Given the description of an element on the screen output the (x, y) to click on. 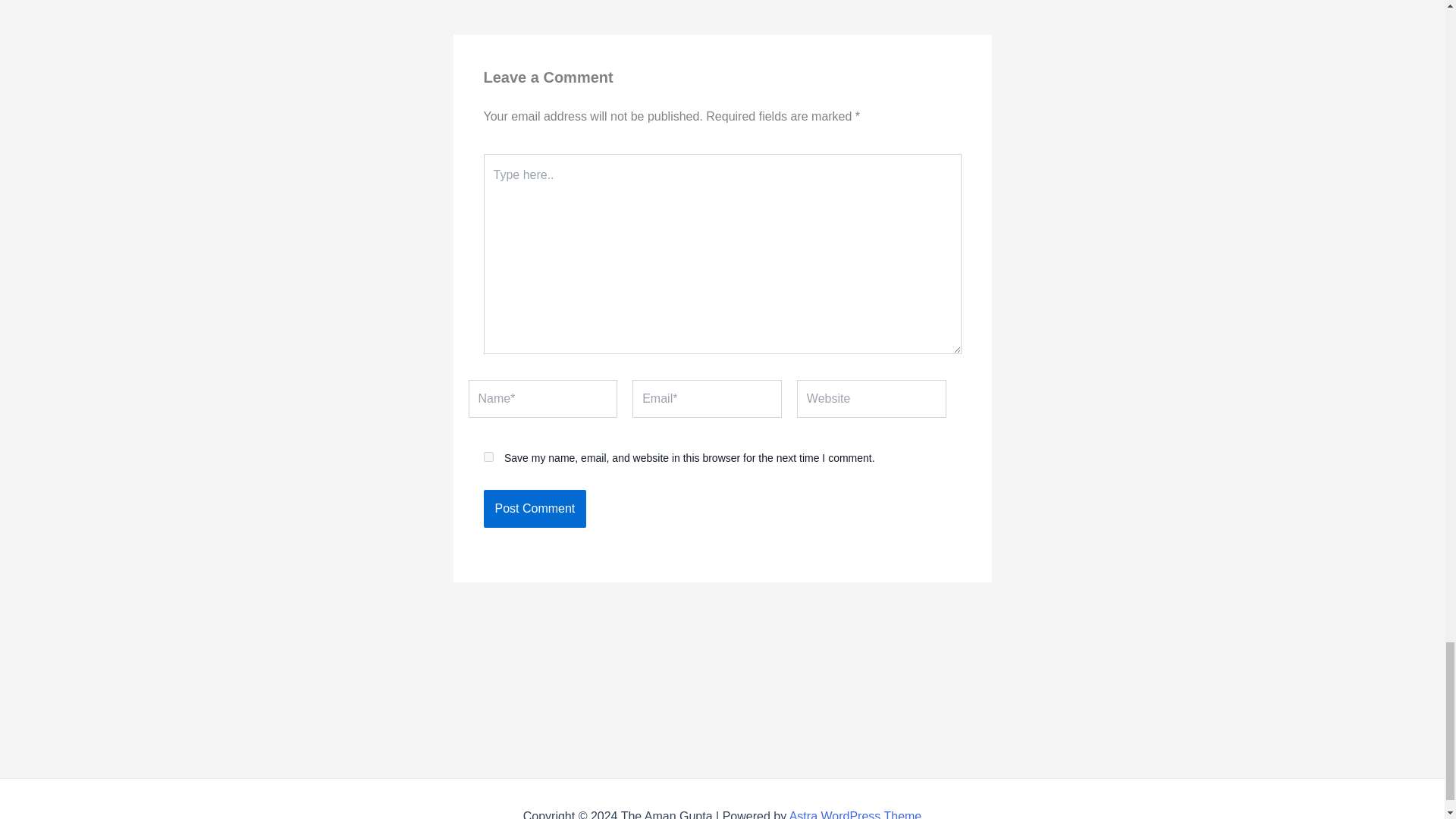
Strong Security Element For IoT Manufacturing (882, 2)
yes (488, 456)
Post Comment (882, 2)
Astra WordPress Theme (534, 508)
Post Comment (855, 814)
